Given the description of an element on the screen output the (x, y) to click on. 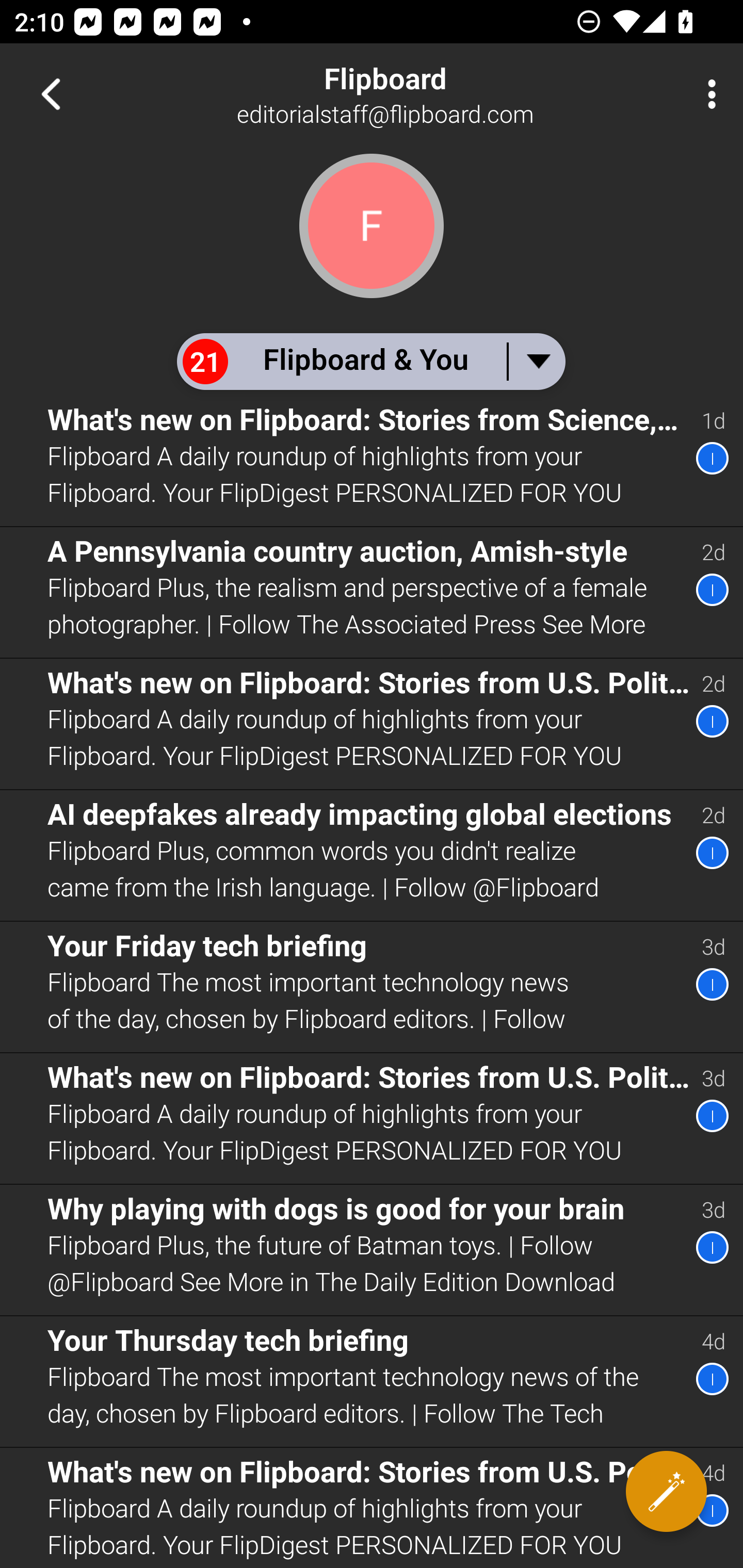
Navigate up (50, 93)
Flipboard editorialstaff@flipboard.com (436, 93)
More Options (706, 93)
21 Flipboard & You (370, 361)
